Given the description of an element on the screen output the (x, y) to click on. 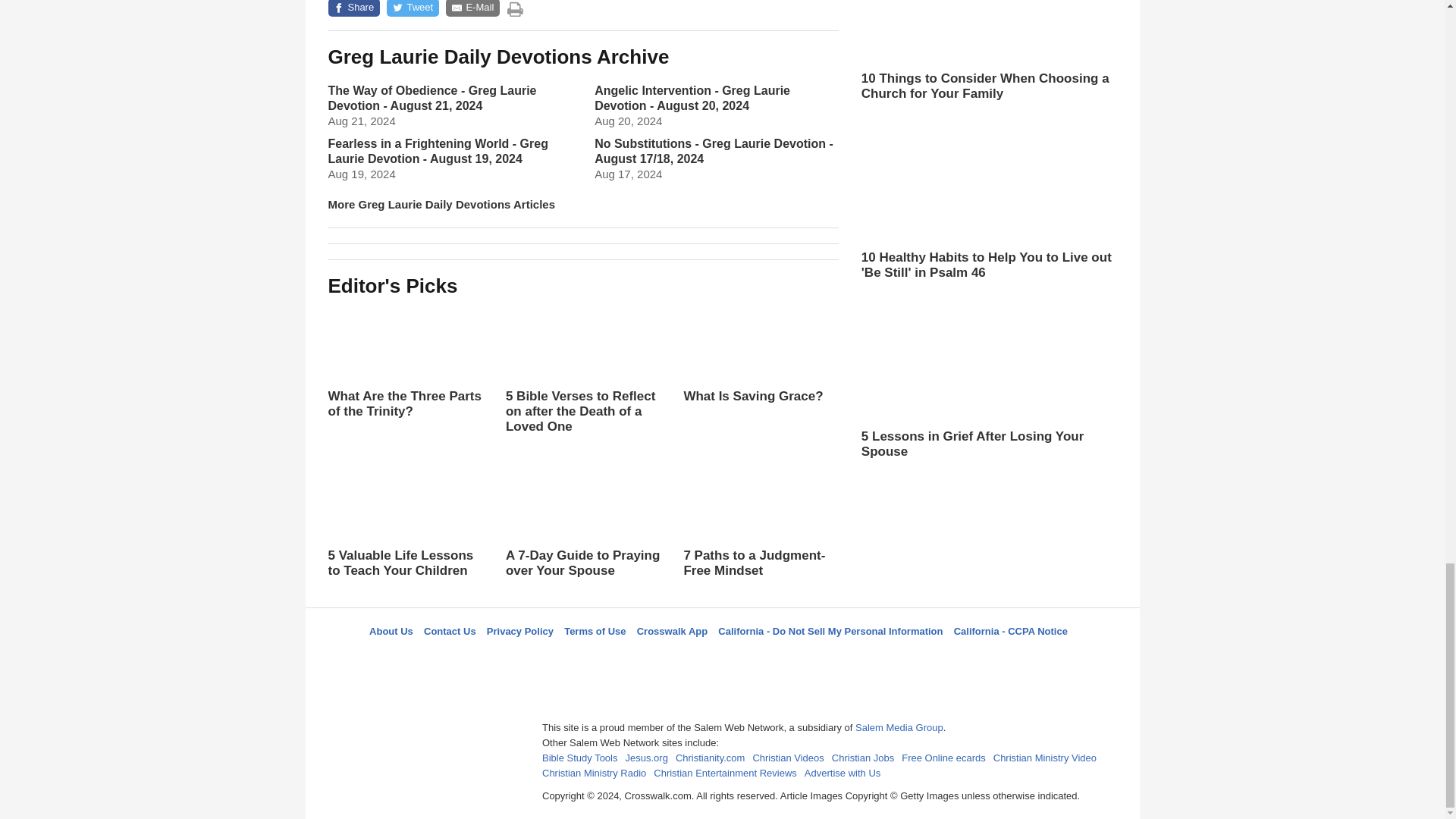
Twitter (683, 658)
5 Valuable Life Lessons to Teach Your Children (404, 520)
A 7-Day Guide to Praying over Your Spouse (583, 535)
What Is Saving Grace? (760, 353)
7 Paths to a Judgment-Free Mindset (760, 520)
Pinterest (757, 658)
LifeAudio (719, 658)
5 Bible Verses to Reflect on after the Death of a Loved One (583, 383)
What Are the Three Parts of the Trinity? (404, 361)
Facebook (645, 658)
